Given the description of an element on the screen output the (x, y) to click on. 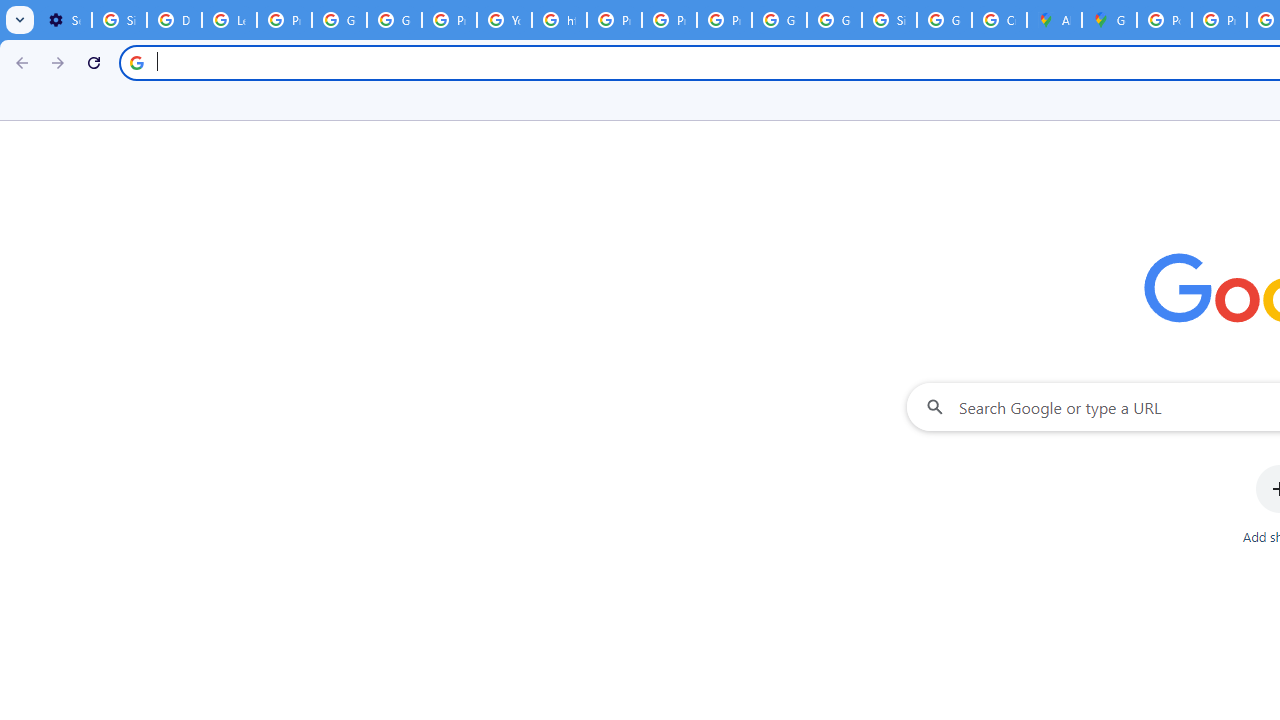
YouTube (504, 20)
Sign in - Google Accounts (888, 20)
Privacy Help Center - Policies Help (614, 20)
Google Maps (1108, 20)
